Given the description of an element on the screen output the (x, y) to click on. 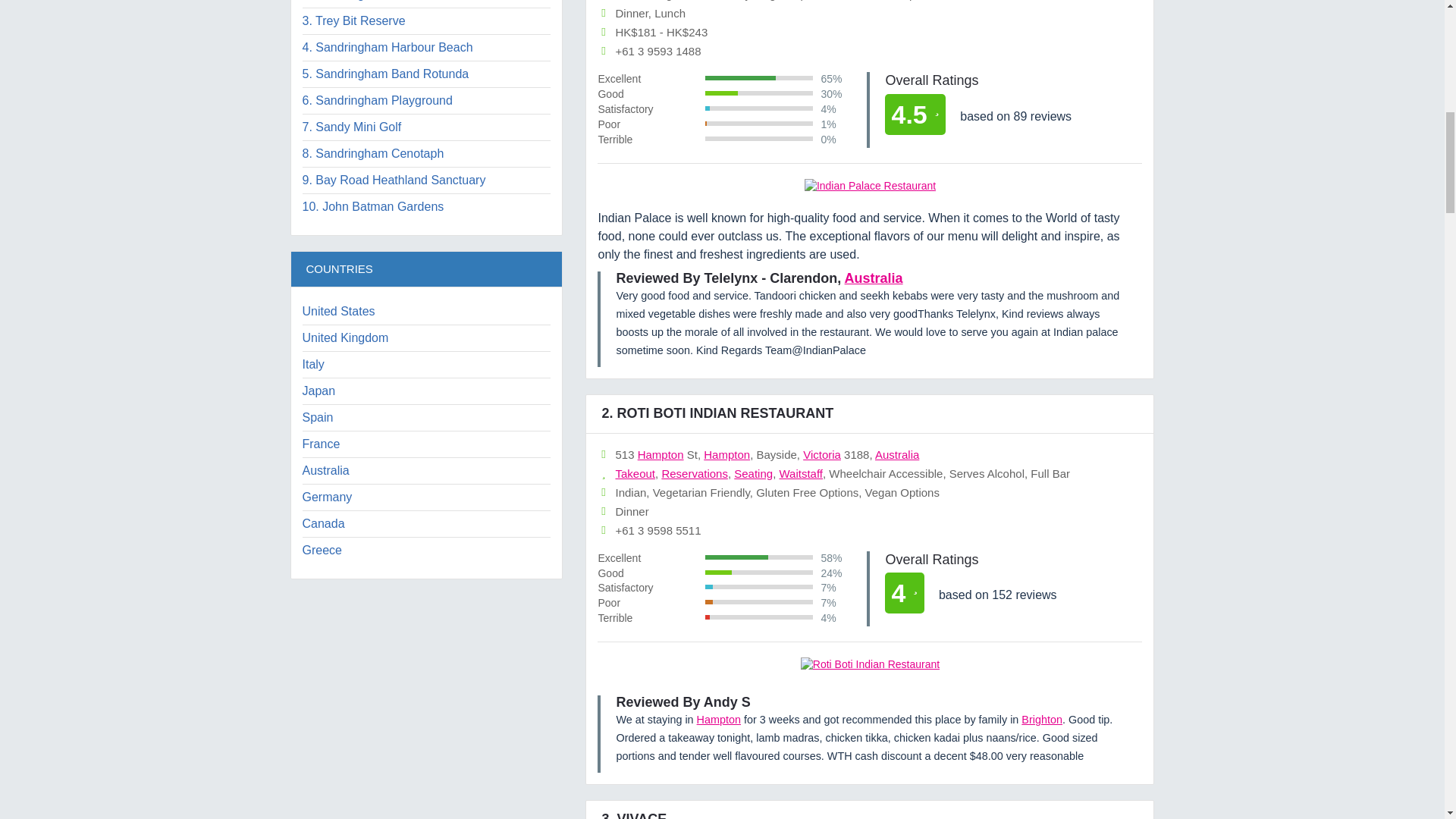
5. Sandringham Band Rotunda (384, 73)
4. Sandringham Harbour Beach (386, 47)
6. Sandringham Playground (376, 100)
3. Trey Bit Reserve (352, 20)
7. Sandy Mini Golf (351, 126)
